Given the description of an element on the screen output the (x, y) to click on. 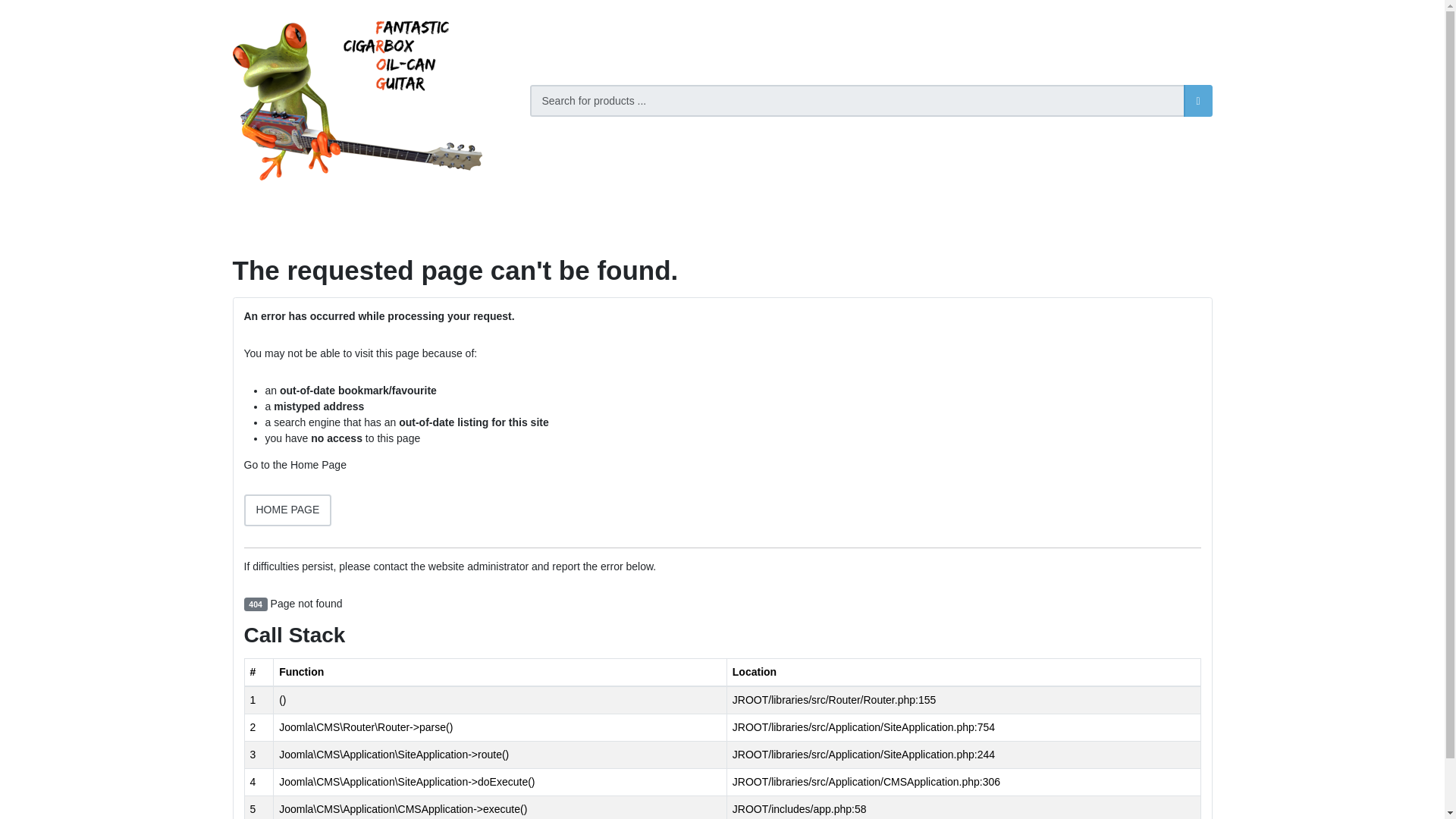
HOME PAGE (287, 510)
